Given the description of an element on the screen output the (x, y) to click on. 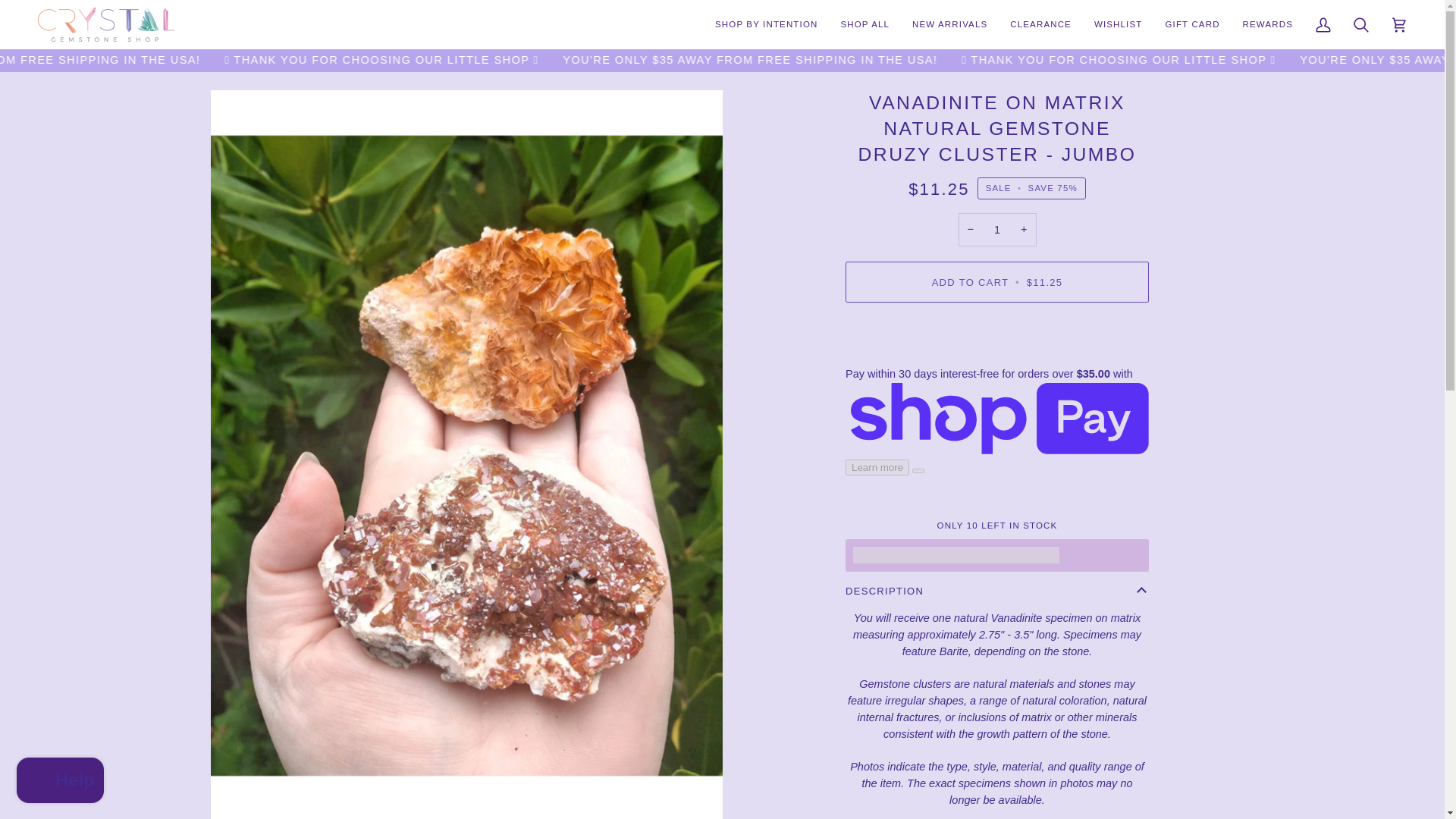
NEW ARRIVALS (949, 24)
GIFT CARD (1191, 24)
SHOP ALL (864, 24)
WISHLIST (1118, 24)
Learn more (1031, 553)
CLEARANCE (1040, 24)
REWARDS (1267, 24)
1 (997, 229)
Shopify online store chat (59, 781)
DESCRIPTION (996, 590)
